Given the description of an element on the screen output the (x, y) to click on. 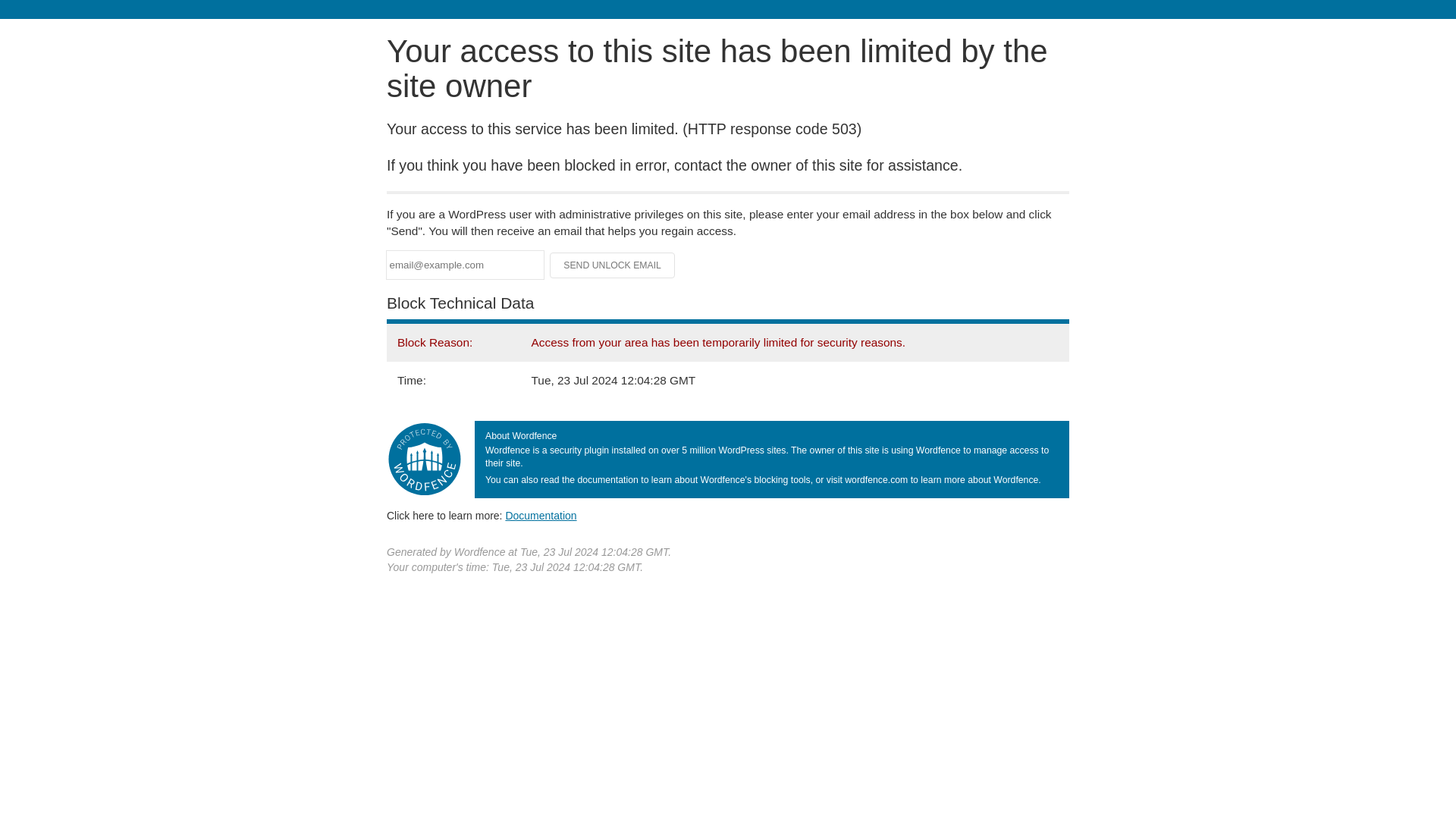
Documentation (540, 515)
Send Unlock Email (612, 265)
Send Unlock Email (612, 265)
